Given the description of an element on the screen output the (x, y) to click on. 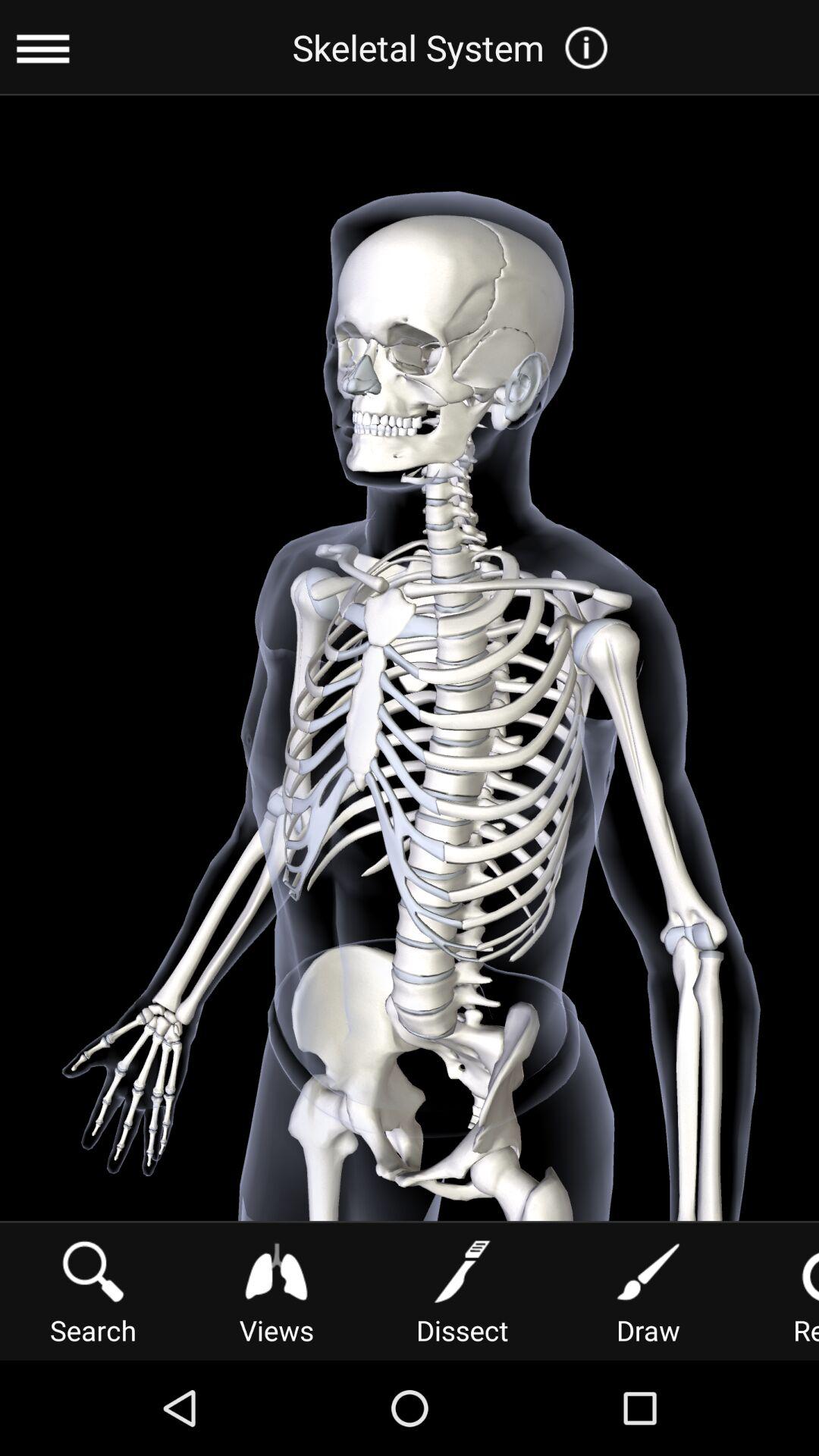
turn off the skeletal system (455, 47)
